Given the description of an element on the screen output the (x, y) to click on. 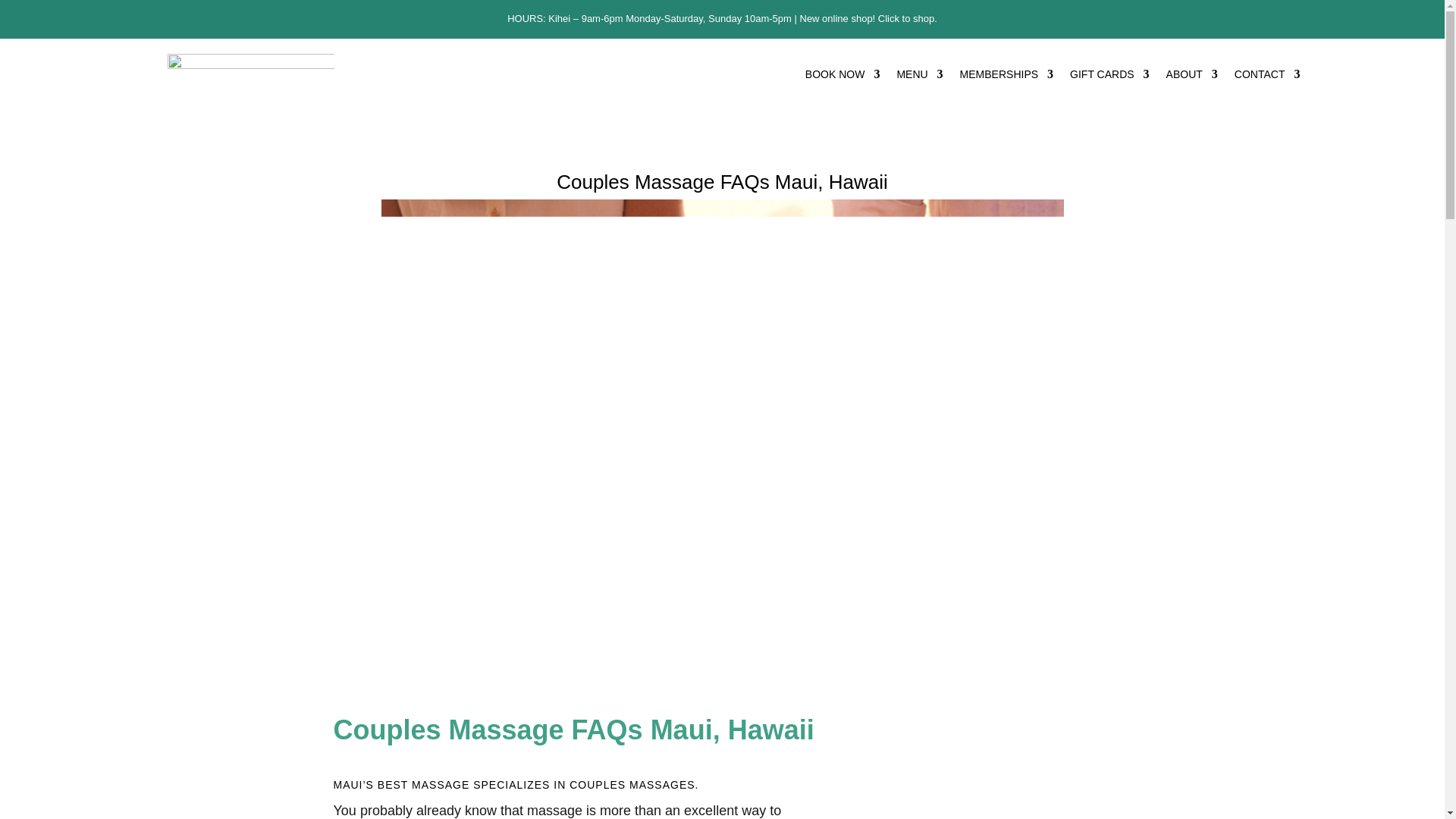
BOOK NOW (842, 76)
GIFT CARDS (1110, 76)
MENU (919, 76)
ABOUT (1191, 76)
mauis-best-massage-and-spa-2019-small (250, 74)
CONTACT (1267, 76)
MEMBERSHIPS (1005, 76)
